Given the description of an element on the screen output the (x, y) to click on. 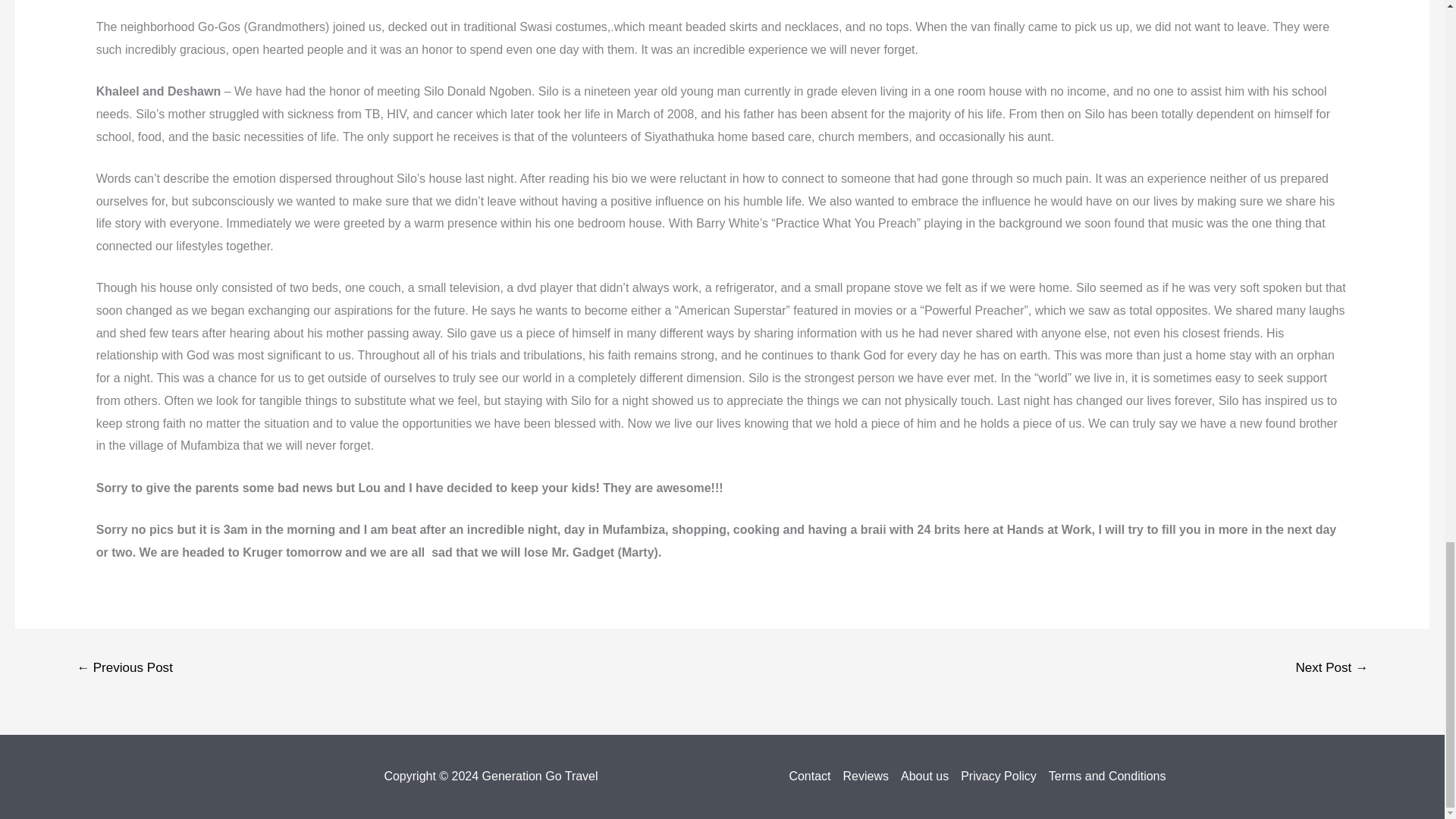
About us (925, 775)
Contact (812, 775)
Terms and Conditions (1104, 775)
Privacy Policy (998, 775)
Reviews (866, 775)
